Given the description of an element on the screen output the (x, y) to click on. 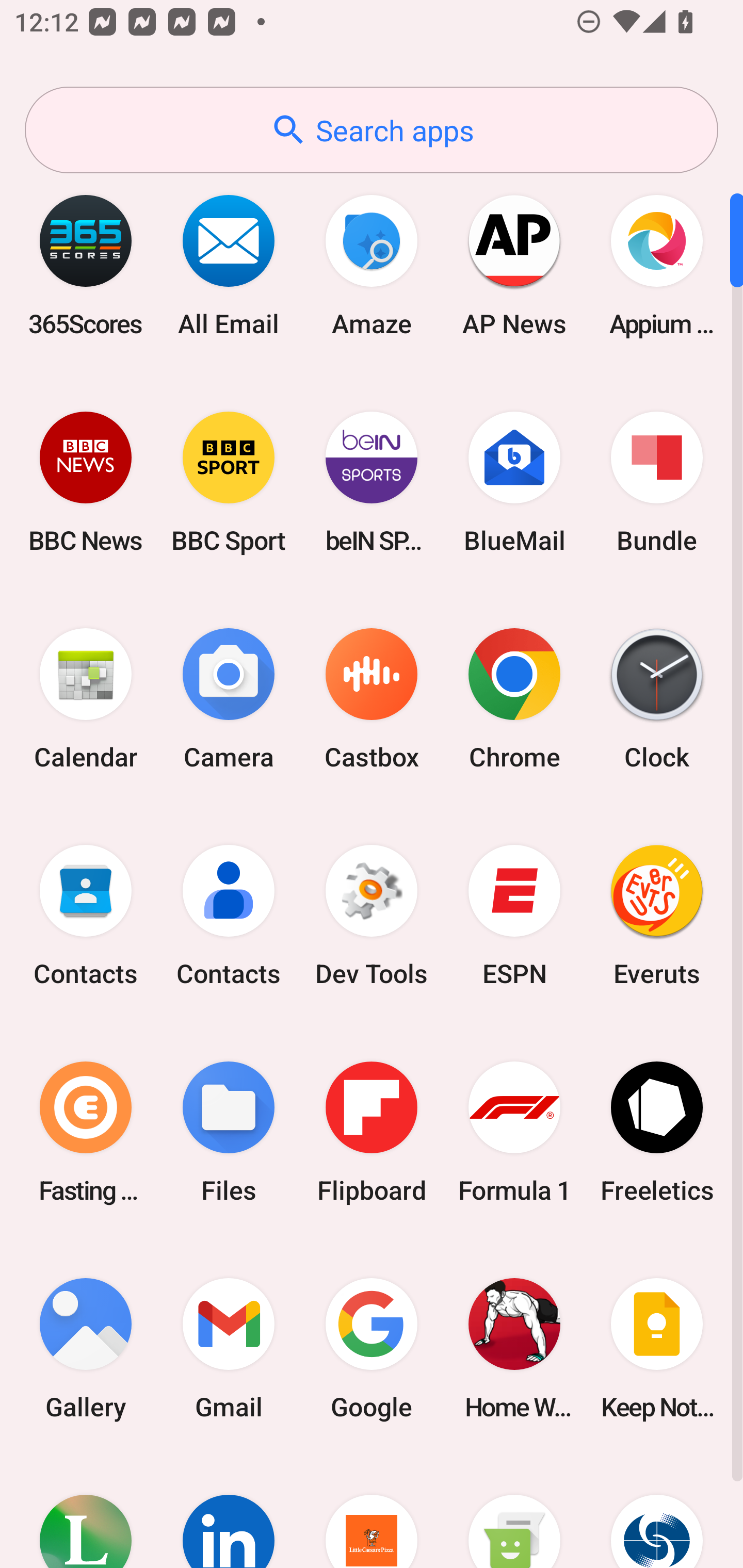
  Search apps (371, 130)
365Scores (85, 264)
All Email (228, 264)
Amaze (371, 264)
AP News (514, 264)
Appium Settings (656, 264)
BBC News (85, 482)
BBC Sport (228, 482)
beIN SPORTS (371, 482)
BlueMail (514, 482)
Bundle (656, 482)
Calendar (85, 699)
Camera (228, 699)
Castbox (371, 699)
Chrome (514, 699)
Clock (656, 699)
Contacts (85, 915)
Contacts (228, 915)
Dev Tools (371, 915)
ESPN (514, 915)
Everuts (656, 915)
Fasting Coach (85, 1131)
Files (228, 1131)
Flipboard (371, 1131)
Formula 1 (514, 1131)
Freeletics (656, 1131)
Gallery (85, 1348)
Gmail (228, 1348)
Google (371, 1348)
Home Workout (514, 1348)
Keep Notes (656, 1348)
